Given the description of an element on the screen output the (x, y) to click on. 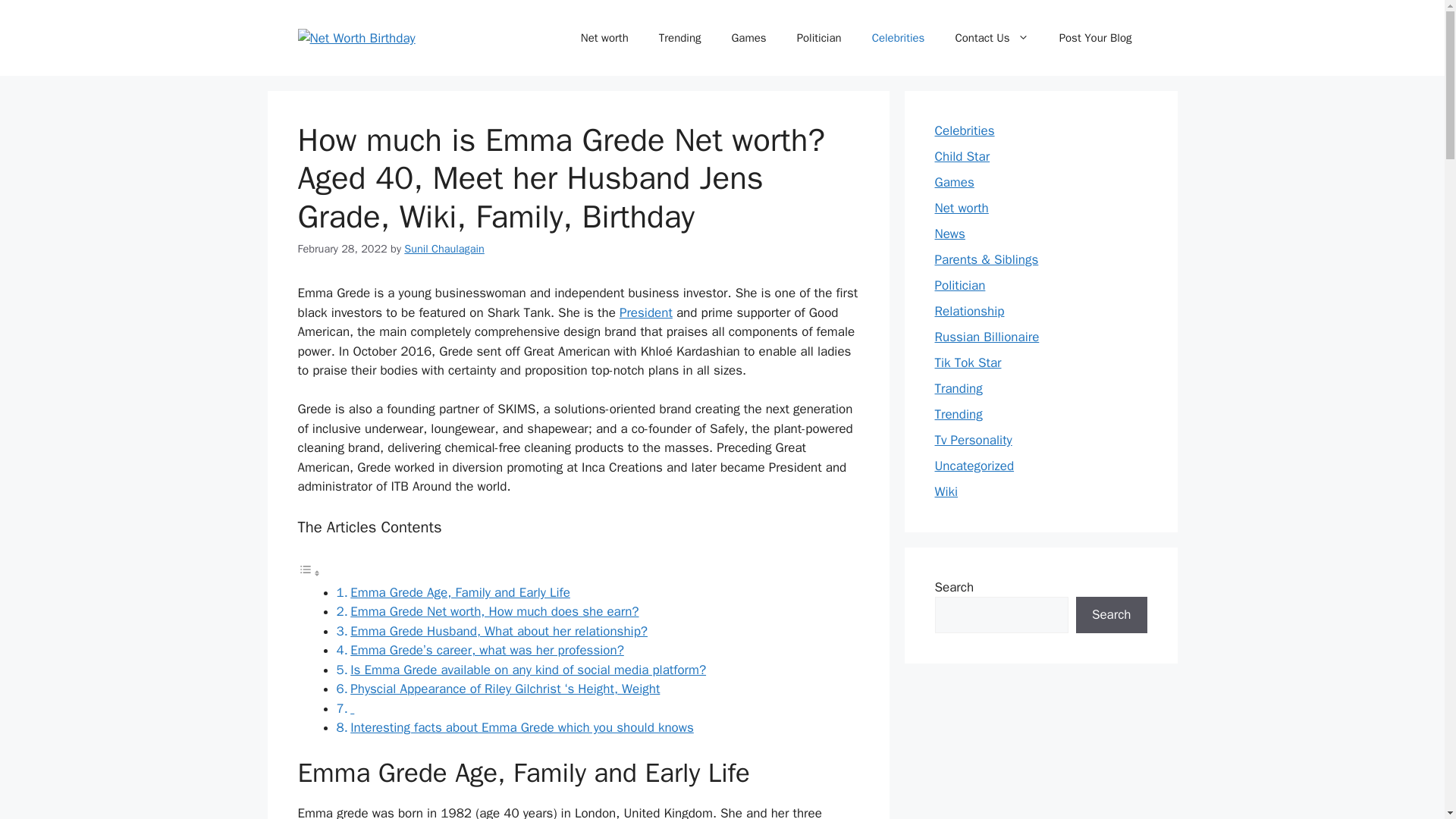
Contact Us (991, 37)
Emma Grede Husband, What about her relationship? (498, 631)
Sunil Chaulagain (444, 248)
Emma Grede Age, Family and Early Life (460, 592)
Emma Grede Net worth, How much does she earn? (494, 611)
President (646, 312)
Emma Grede Net worth, How much does she earn? (494, 611)
Celebrities (898, 37)
Emma Grede Husband, What about her relationship? (498, 631)
Games (748, 37)
Post Your Blog (1095, 37)
Net worth (604, 37)
